Given the description of an element on the screen output the (x, y) to click on. 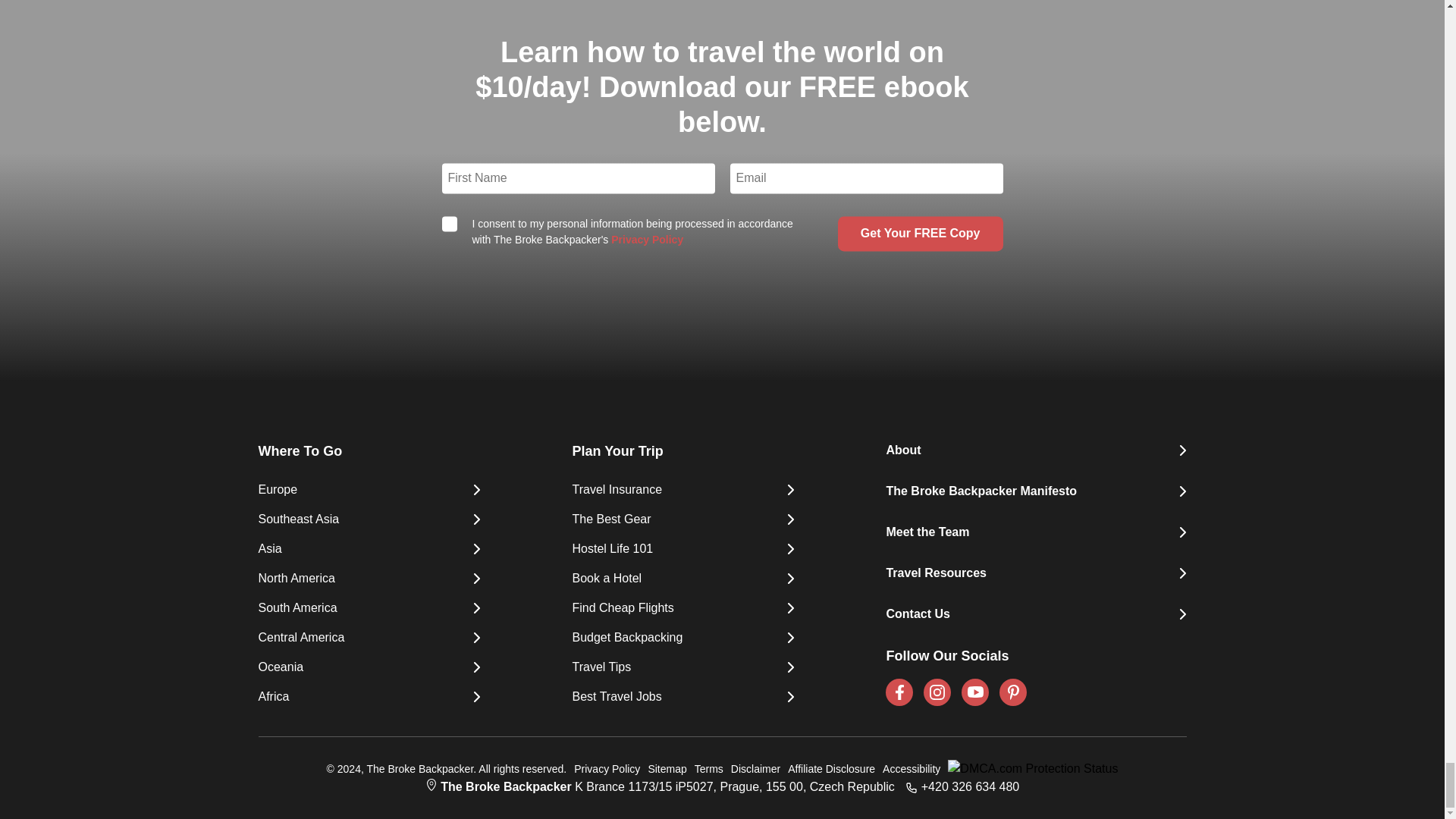
DMCA.com Protection Status (1029, 769)
1 (449, 223)
